Given the description of an element on the screen output the (x, y) to click on. 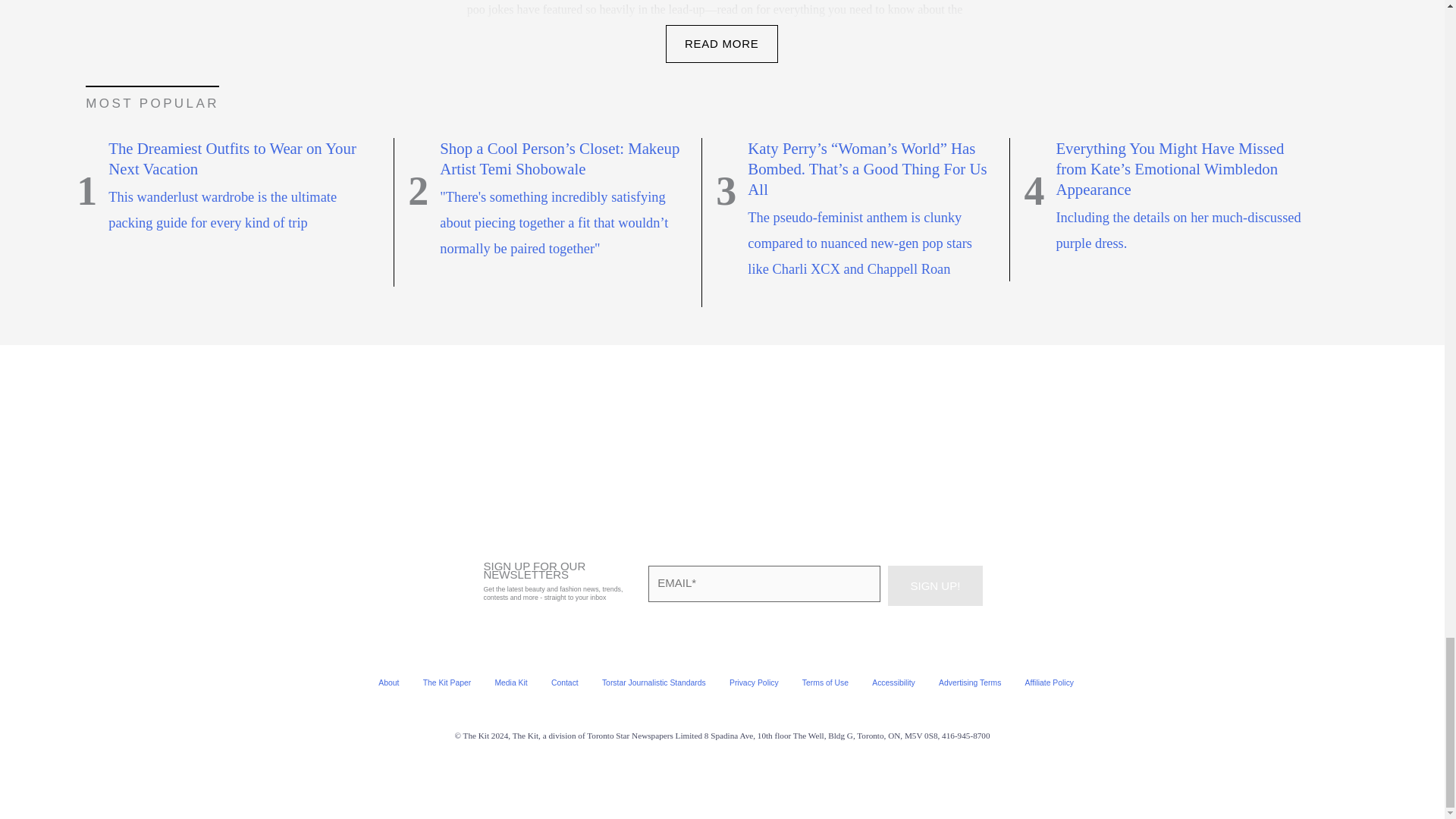
Sign Up! (934, 585)
